Given the description of an element on the screen output the (x, y) to click on. 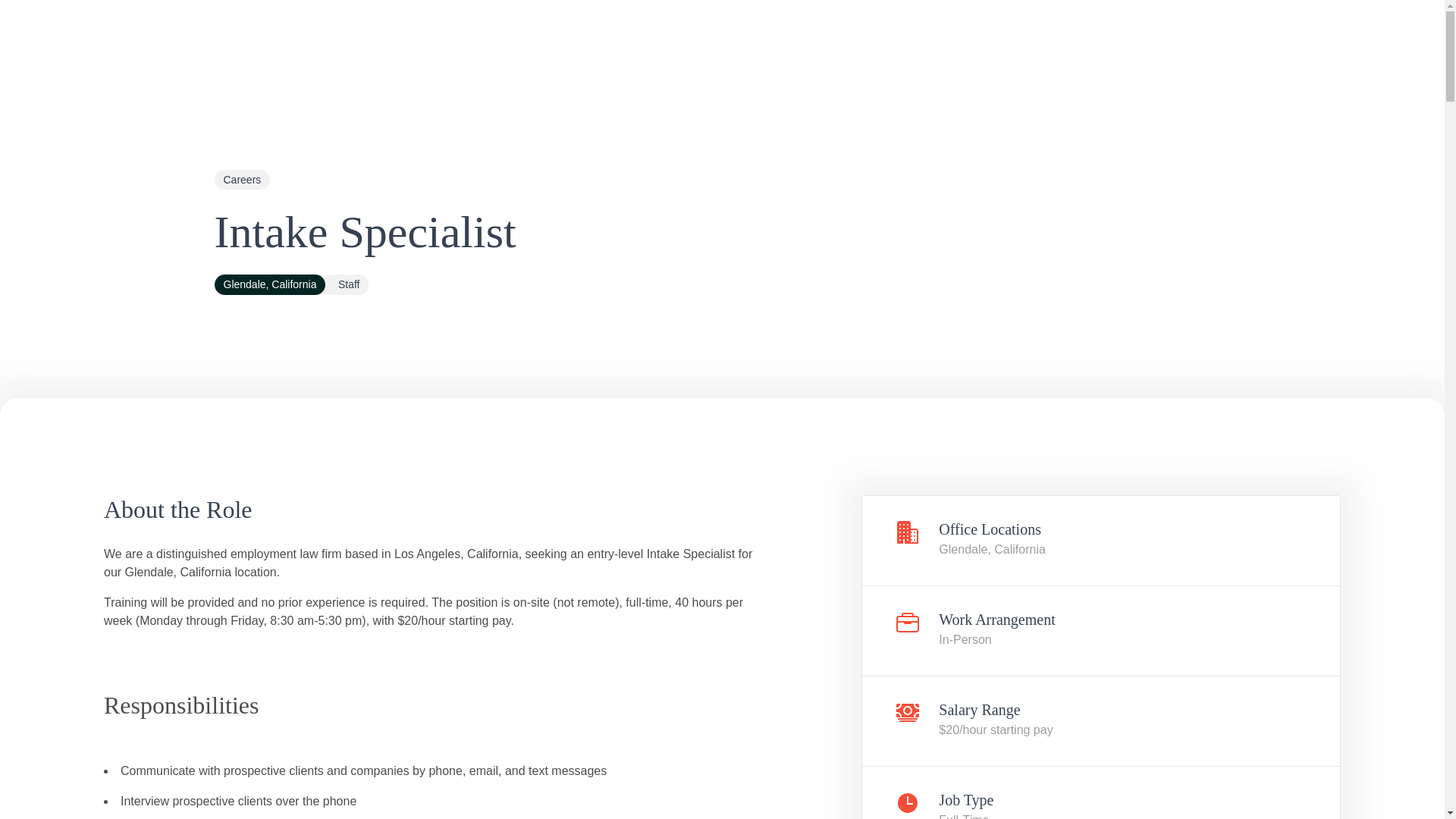
Careers (241, 179)
